Given the description of an element on the screen output the (x, y) to click on. 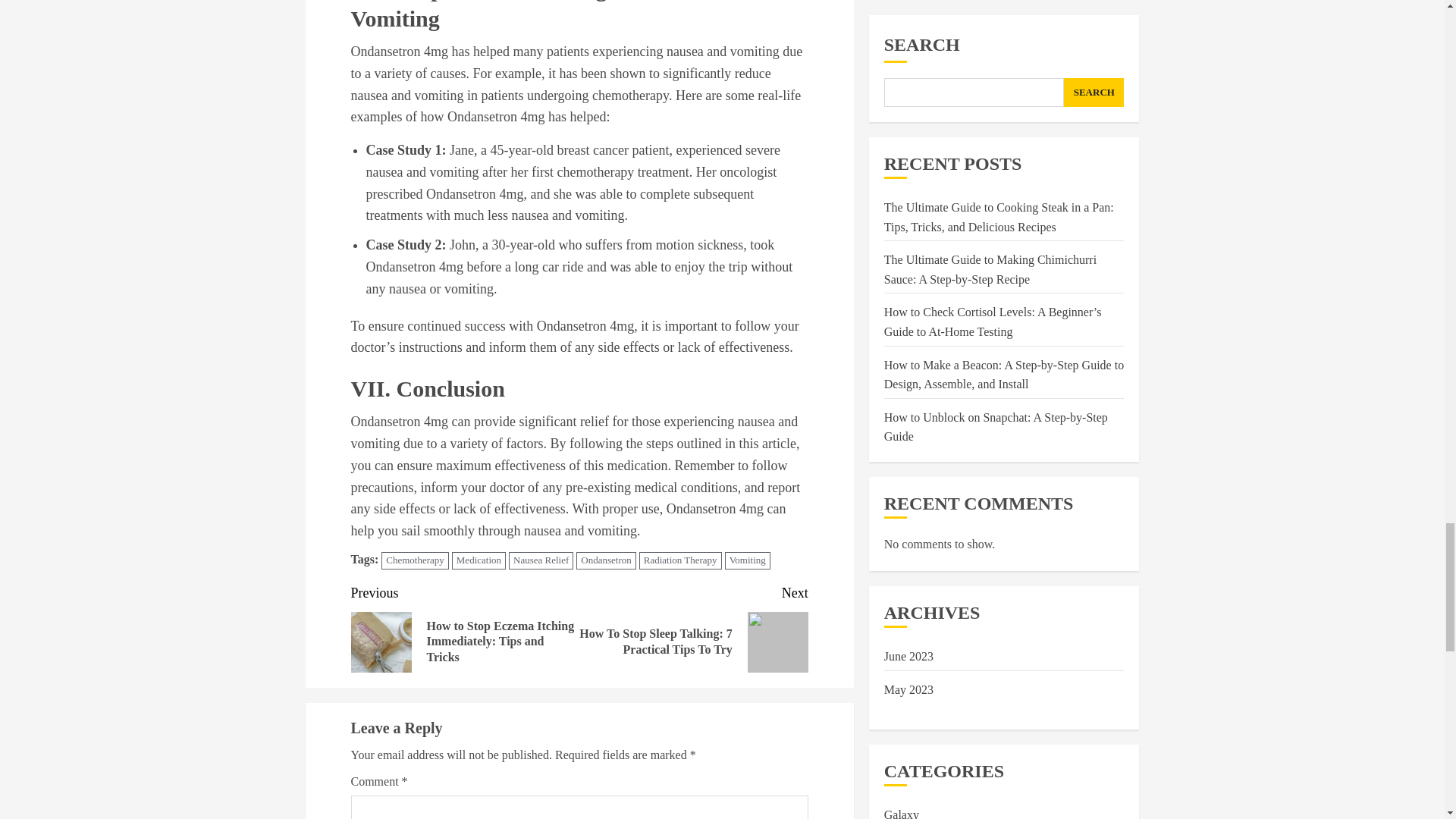
Vomiting (747, 560)
Nausea Relief (540, 560)
Medication (478, 560)
Ondansetron (605, 560)
Chemotherapy (414, 560)
Radiation Therapy (680, 560)
